Given the description of an element on the screen output the (x, y) to click on. 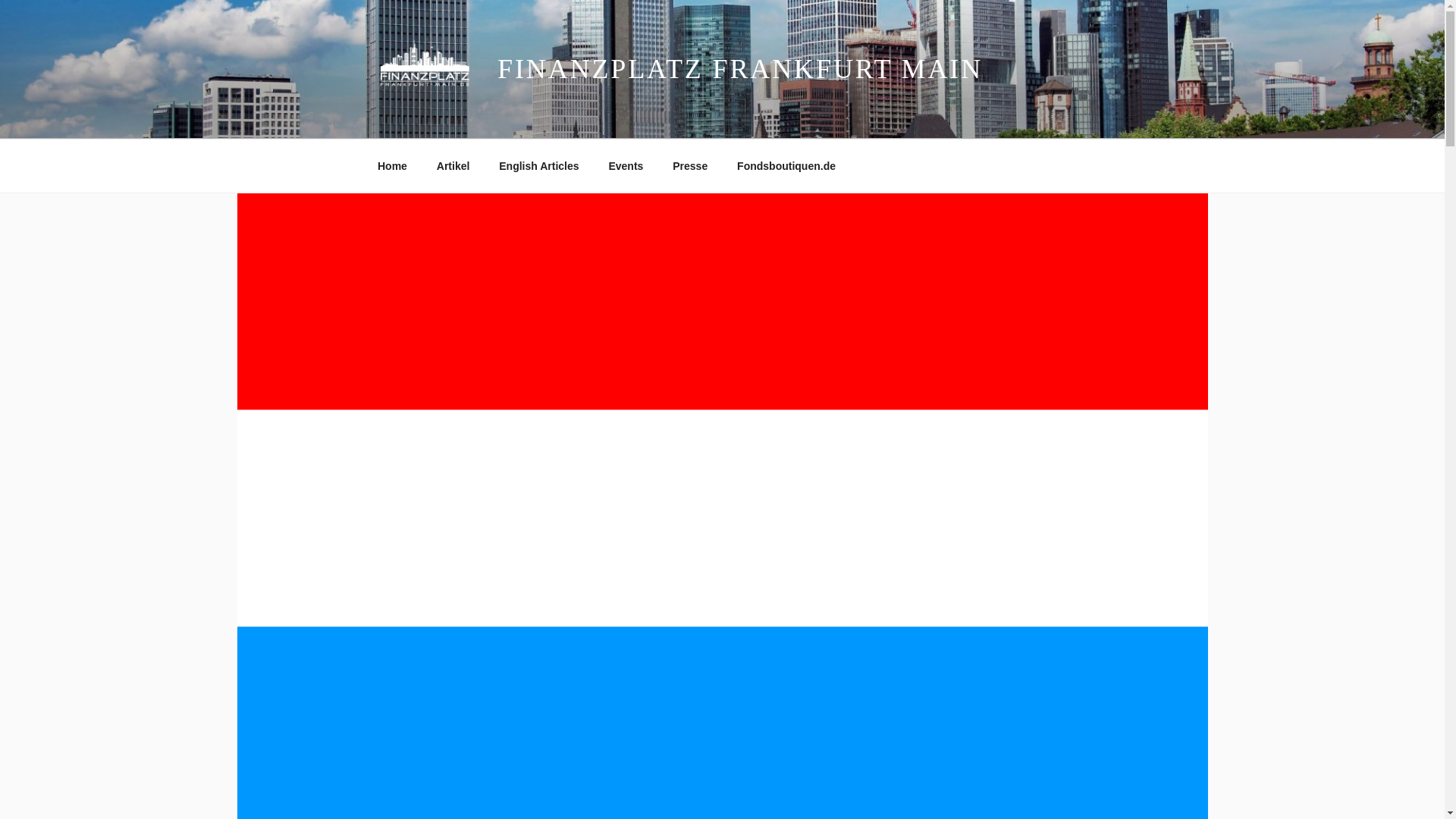
Events (625, 165)
Presse (689, 165)
Artikel (453, 165)
Home (392, 165)
FINANZPLATZ FRANKFURT MAIN (739, 69)
Fondsboutiquen.de (785, 165)
English Articles (539, 165)
